Given the description of an element on the screen output the (x, y) to click on. 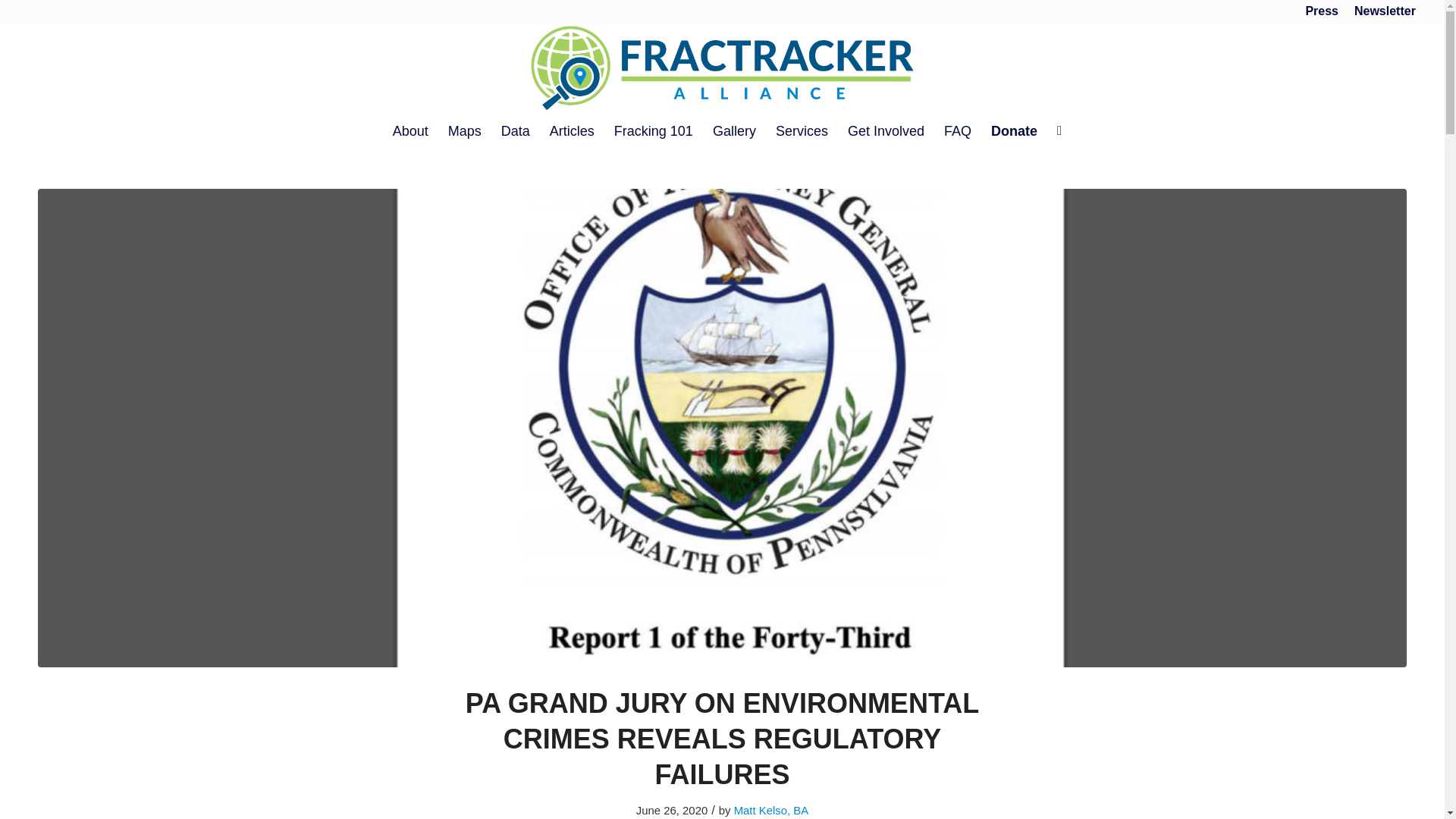
2021 FracTracker logo horizontal (722, 67)
Newsletter (1384, 11)
Data (516, 130)
Fracking 101 (653, 130)
Gallery (734, 130)
Posts by Matt Kelso, BA (770, 810)
Articles (572, 130)
About (410, 130)
Maps (465, 130)
